Given the description of an element on the screen output the (x, y) to click on. 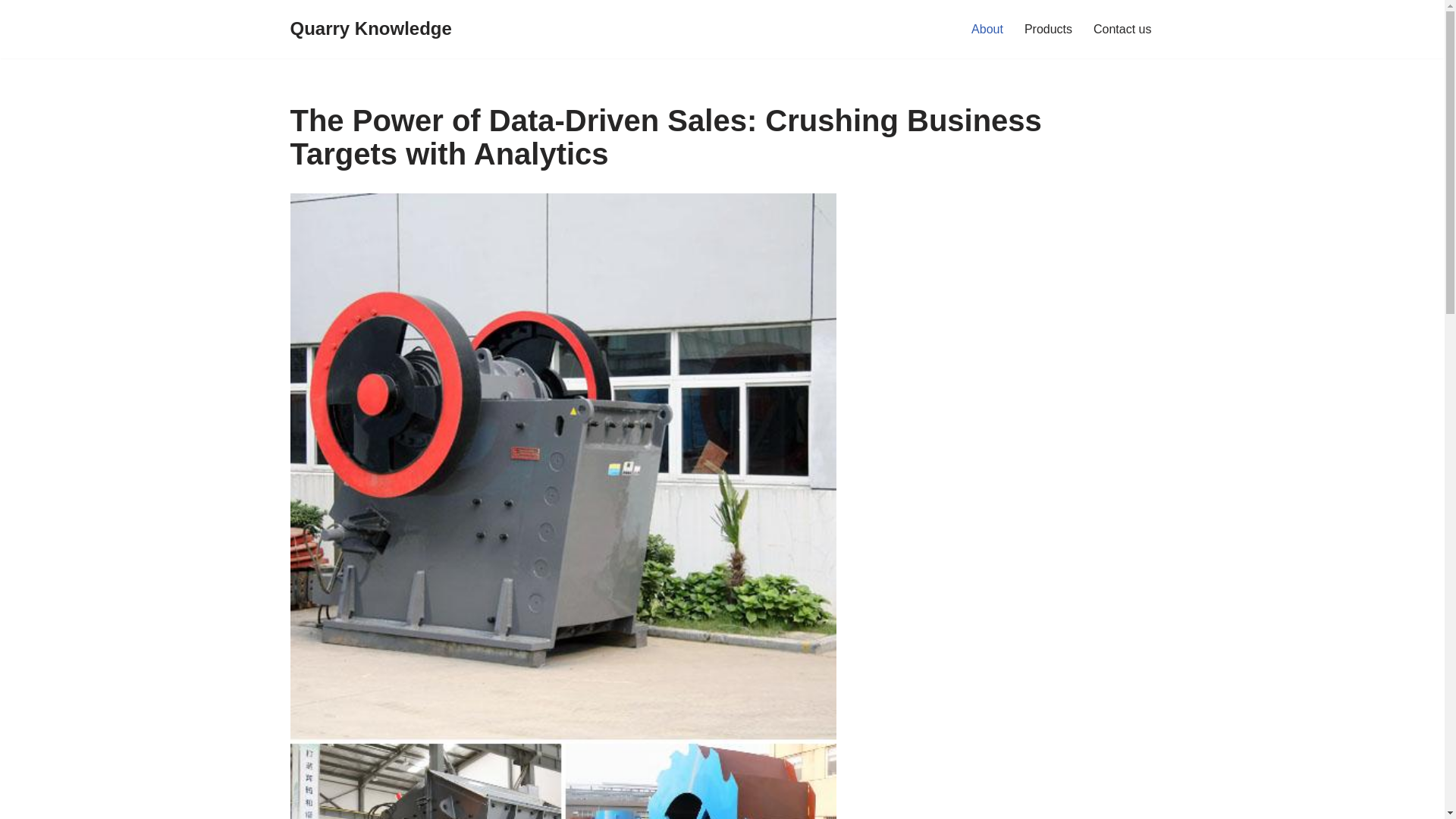
Skip to content (11, 31)
Products (1048, 28)
Contact us (1122, 28)
About (987, 28)
Quarry Knowledge (370, 29)
